Given the description of an element on the screen output the (x, y) to click on. 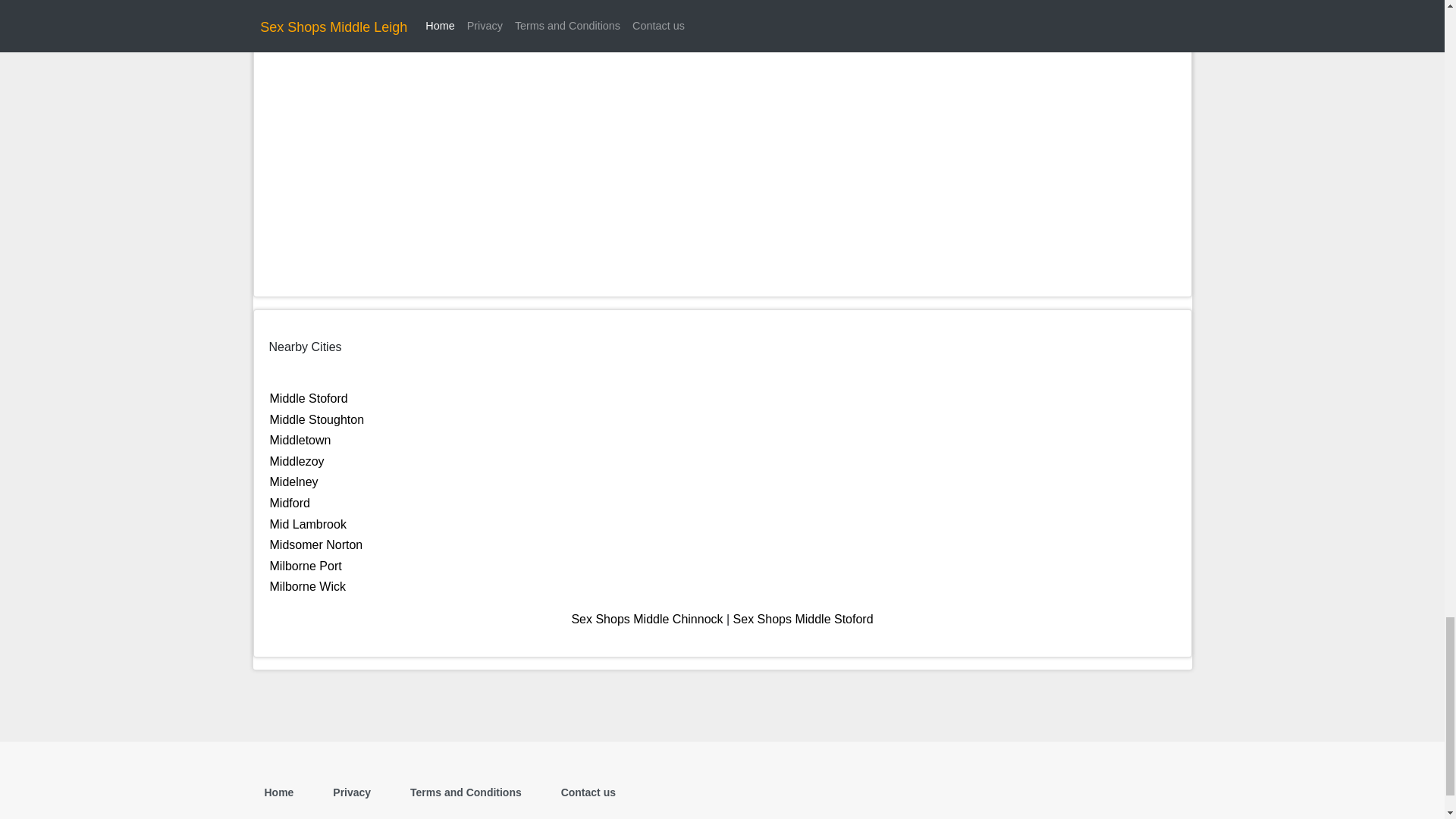
Mid Lambrook (307, 523)
Midsomer Norton (315, 544)
Milborne Port (305, 565)
Sex Shops Middle Stoford (803, 618)
Middlezoy (296, 461)
Middle Stoughton (317, 419)
Milborne Wick (307, 585)
Midelney (293, 481)
Middletown (300, 440)
Middle Stoford (308, 398)
Midford (289, 502)
Sex Shops Middle Chinnock (646, 618)
